Given the description of an element on the screen output the (x, y) to click on. 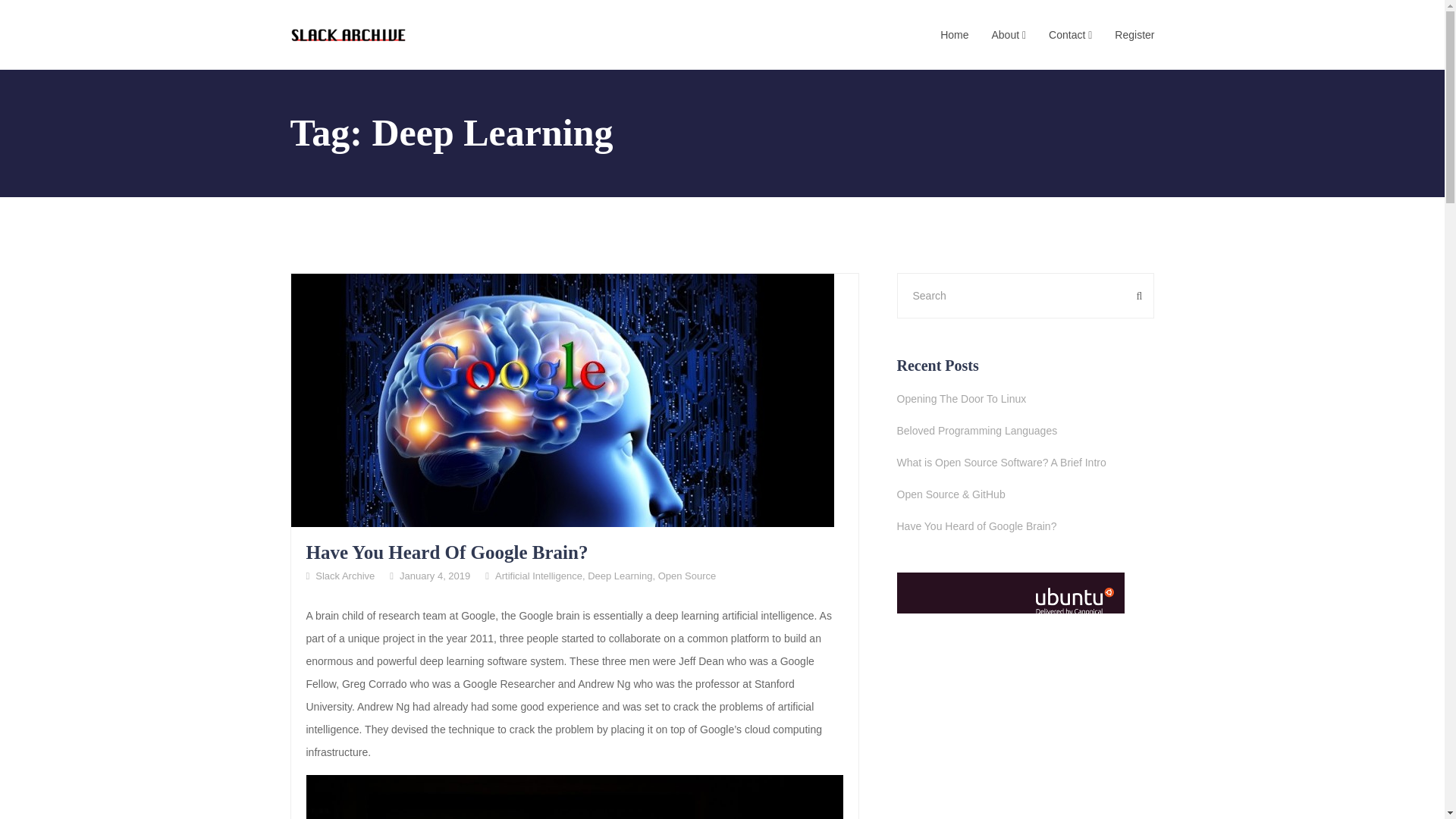
Contact (1070, 34)
Beloved Programming Languages (1025, 430)
Deep Learning (620, 575)
Contact (1070, 34)
Open Source (687, 575)
Register (1134, 34)
About (1008, 34)
Home (954, 34)
What is Open Source Software? A Brief Intro (1025, 462)
Have You Heard Of Google Brain? (446, 552)
Artificial Intelligence (538, 575)
Have You Heard of Google Brain? (1025, 525)
Slack Archive (344, 575)
Register (1134, 34)
Home (954, 34)
